Given the description of an element on the screen output the (x, y) to click on. 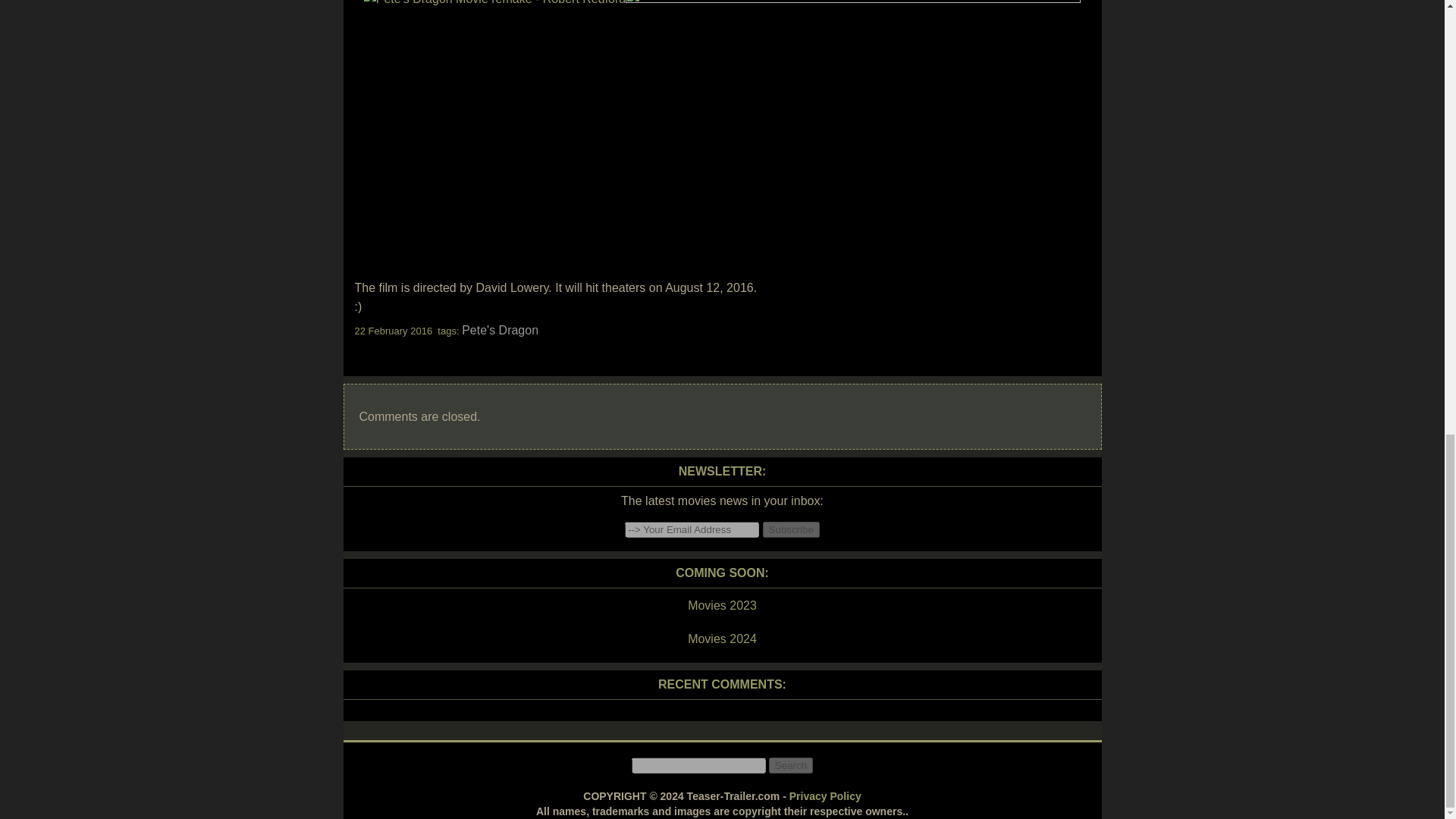
Subscribe (790, 529)
Search (790, 765)
Pete's Dragon (499, 329)
Subscribe (790, 529)
Search (790, 765)
Privacy Policy (825, 796)
Movies 2024 (721, 639)
Movies 2023 (721, 605)
